Given the description of an element on the screen output the (x, y) to click on. 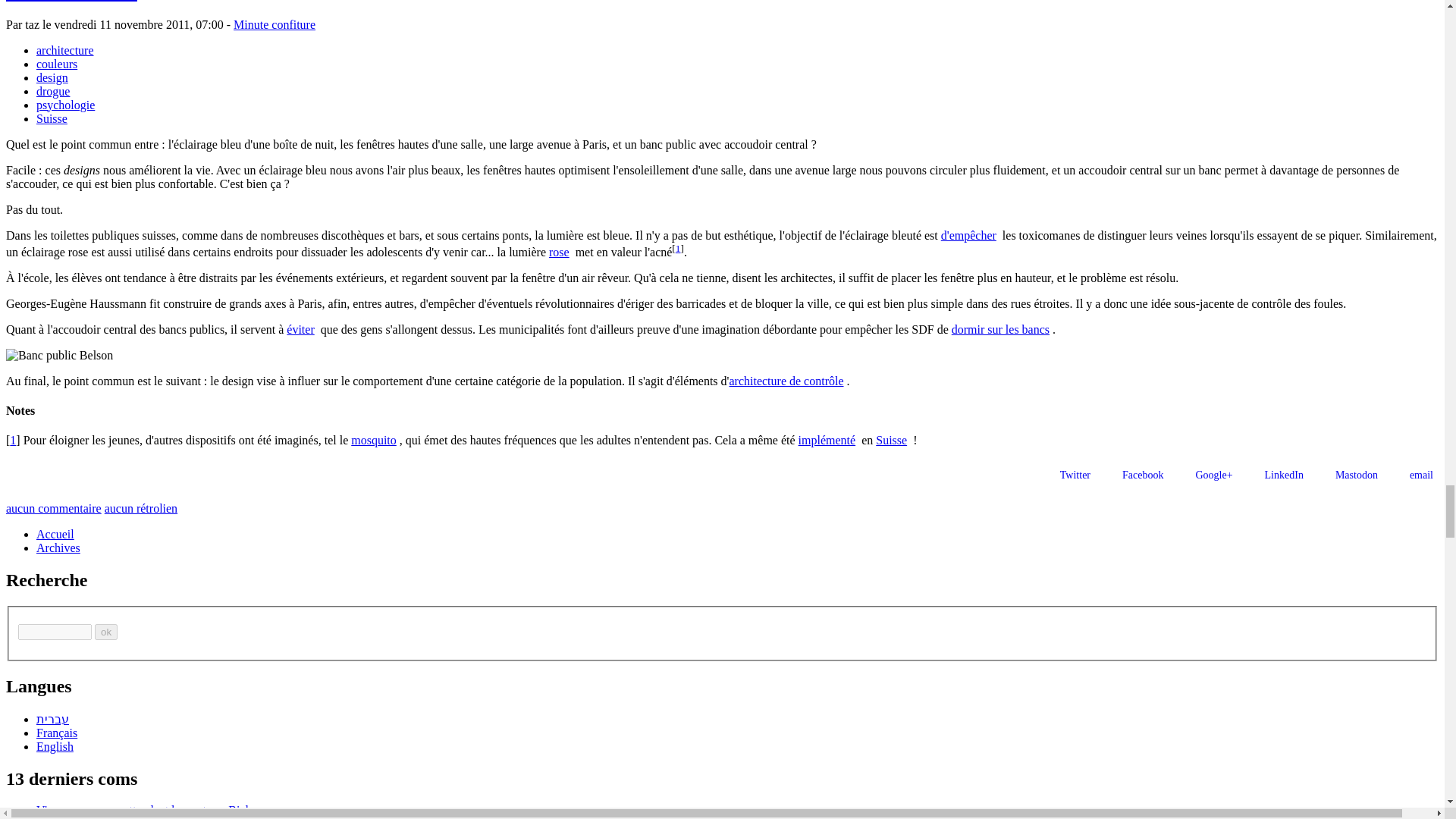
ok (105, 631)
